Given the description of an element on the screen output the (x, y) to click on. 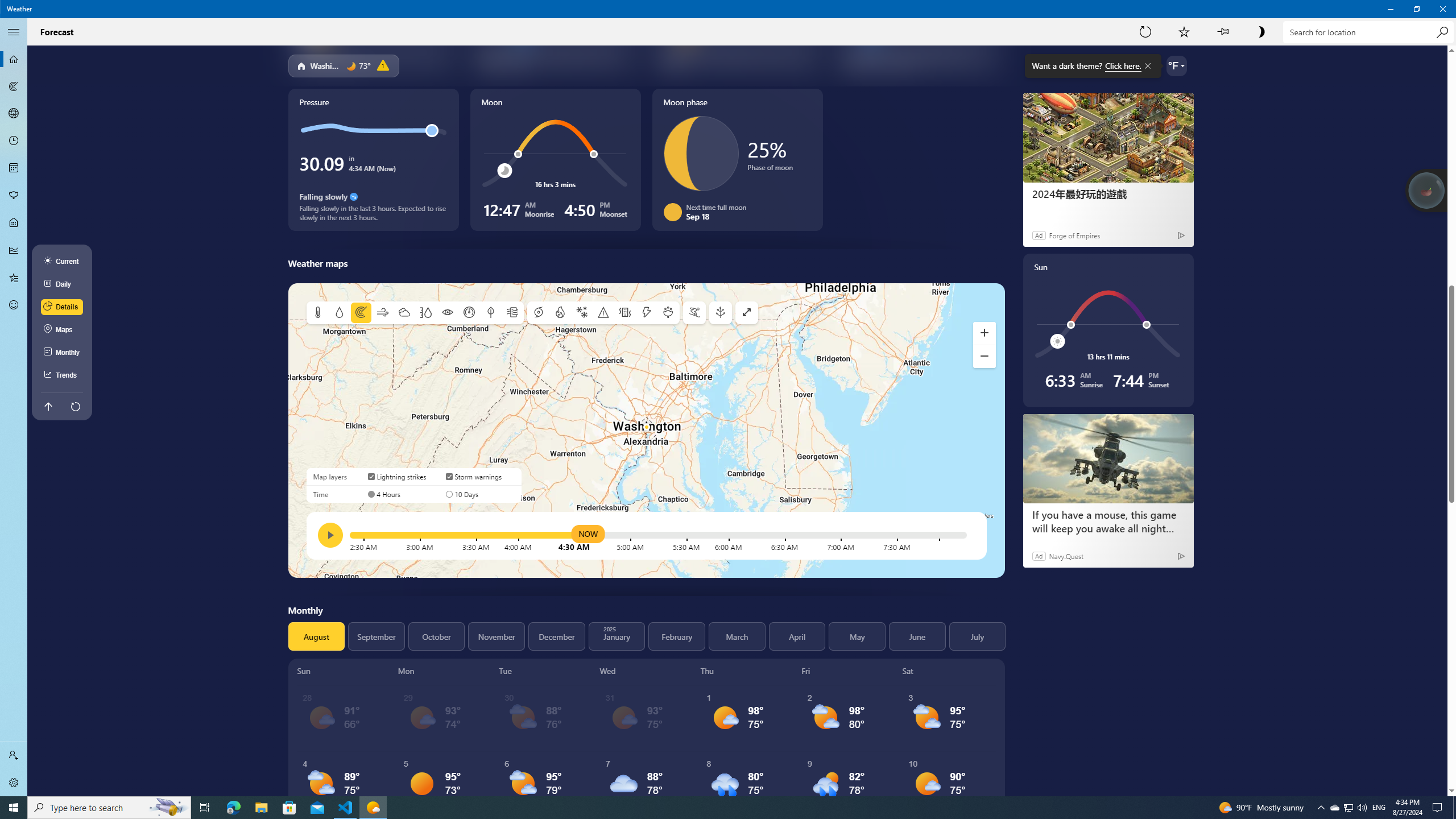
Search for location (1367, 32)
Forecast - Not Selected (13, 58)
3D Maps - Not Selected (13, 113)
3D Maps - Not Selected (13, 113)
Add to Favorites (1184, 31)
Send Feedback - Not Selected (13, 304)
Hourly Forecast - Not Selected (13, 140)
Restore Weather (1416, 9)
Monthly Forecast - Not Selected (13, 167)
Refresh (1144, 31)
